Given the description of an element on the screen output the (x, y) to click on. 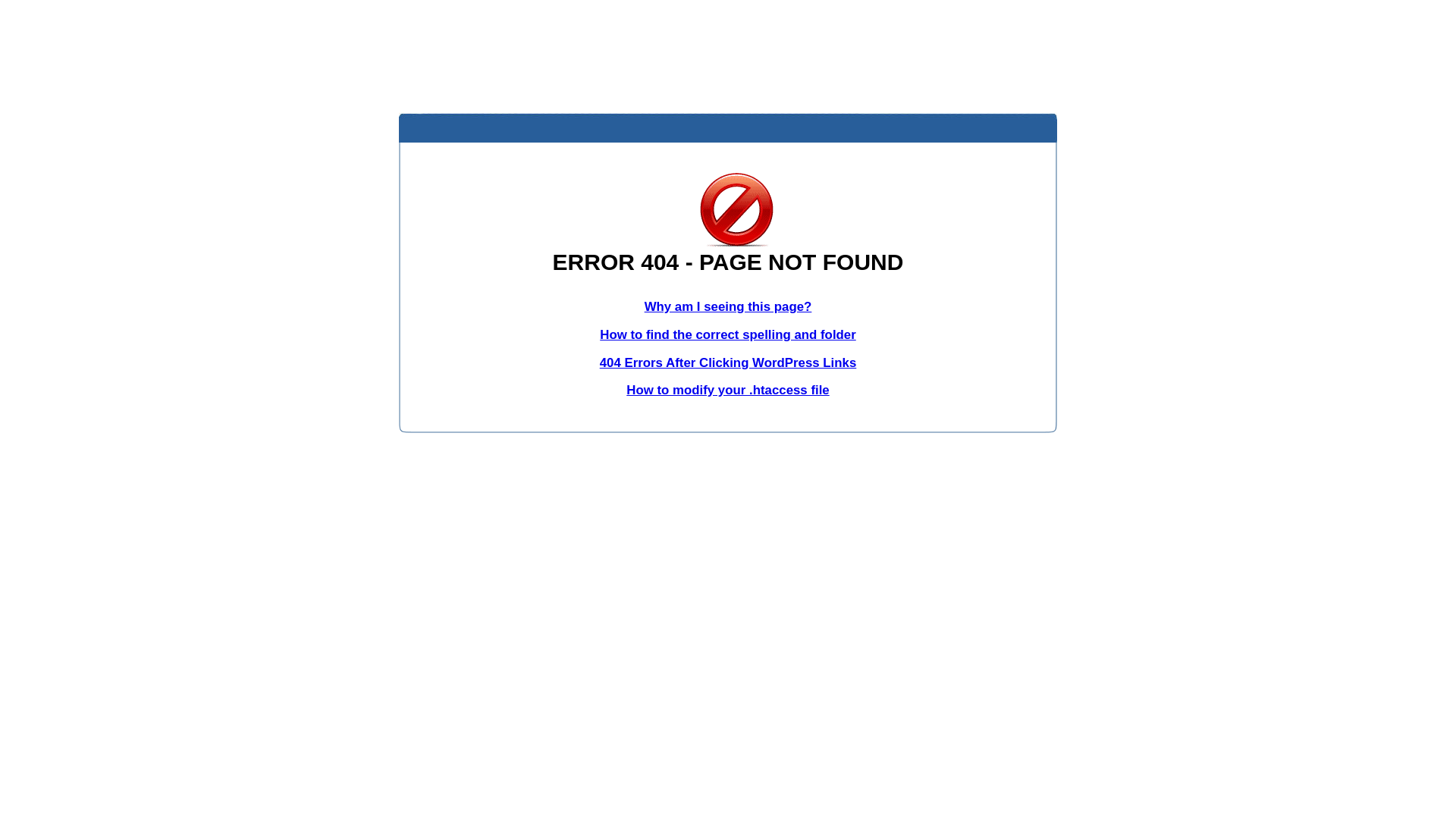
How to find the correct spelling and folder Element type: text (727, 334)
404 Errors After Clicking WordPress Links Element type: text (727, 362)
Why am I seeing this page? Element type: text (728, 306)
How to modify your .htaccess file Element type: text (727, 389)
